Given the description of an element on the screen output the (x, y) to click on. 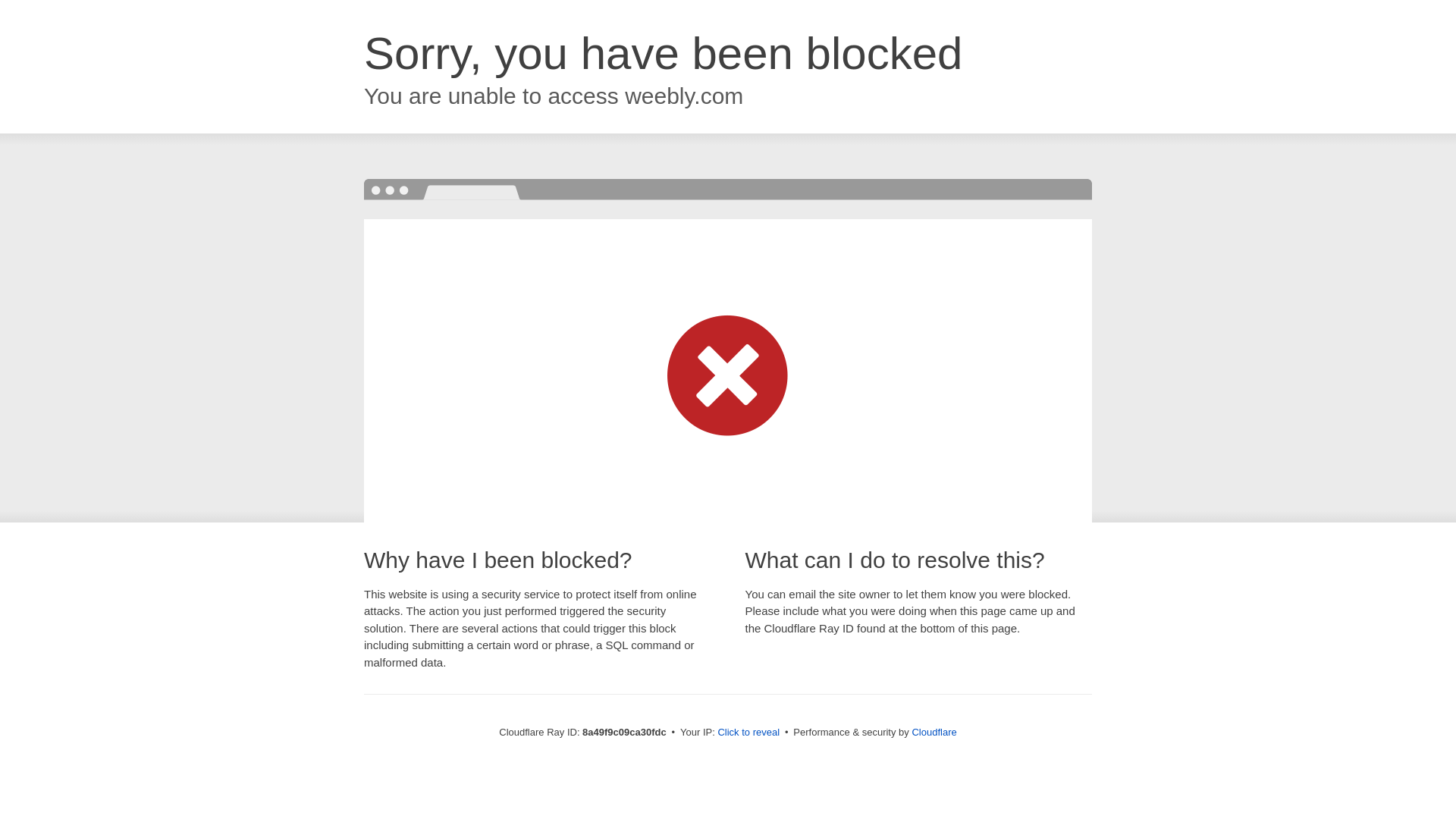
Cloudflare (933, 731)
Click to reveal (747, 732)
